Given the description of an element on the screen output the (x, y) to click on. 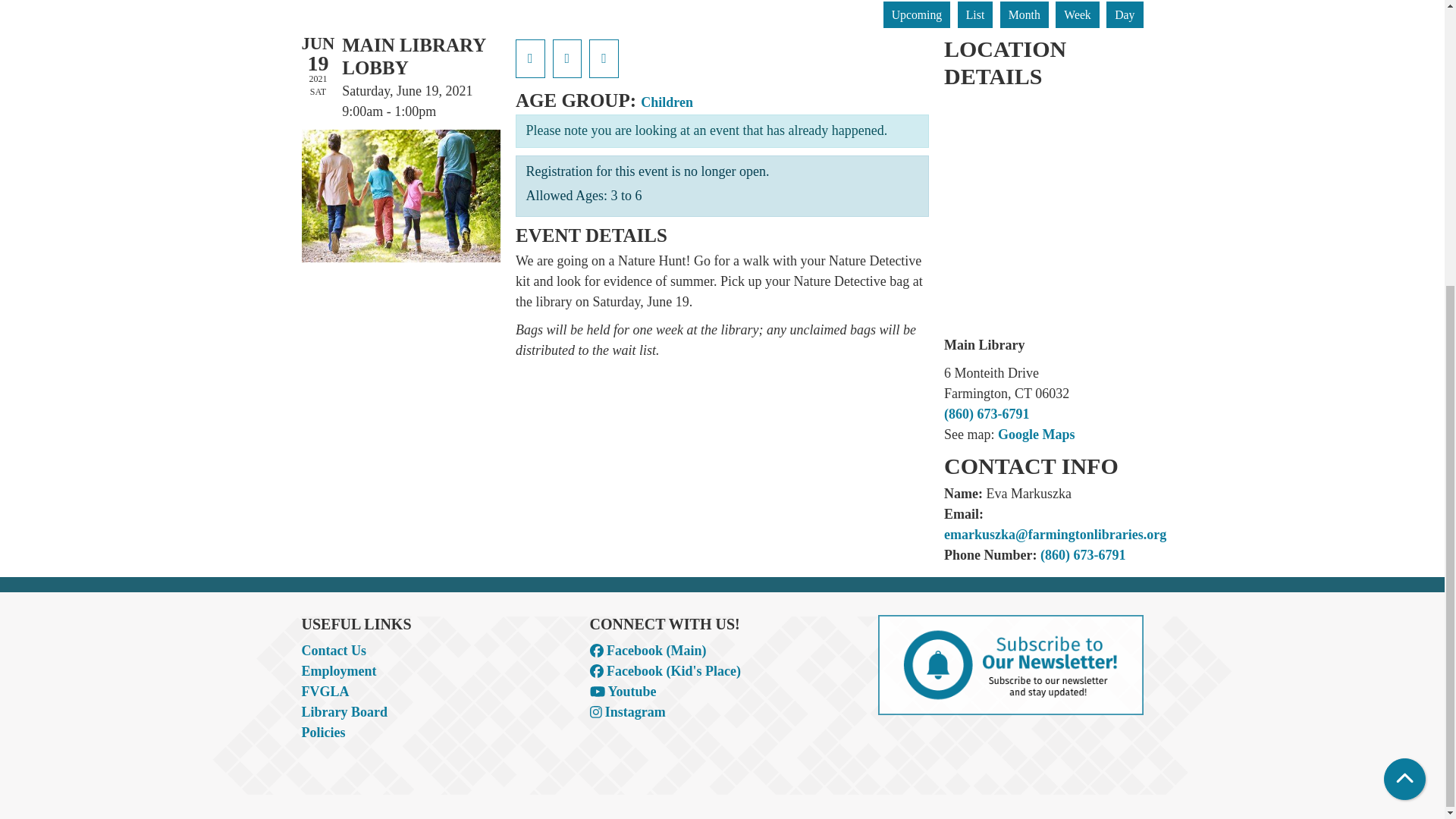
Back To Top (1404, 346)
Newsletter button (1009, 664)
